Given the description of an element on the screen output the (x, y) to click on. 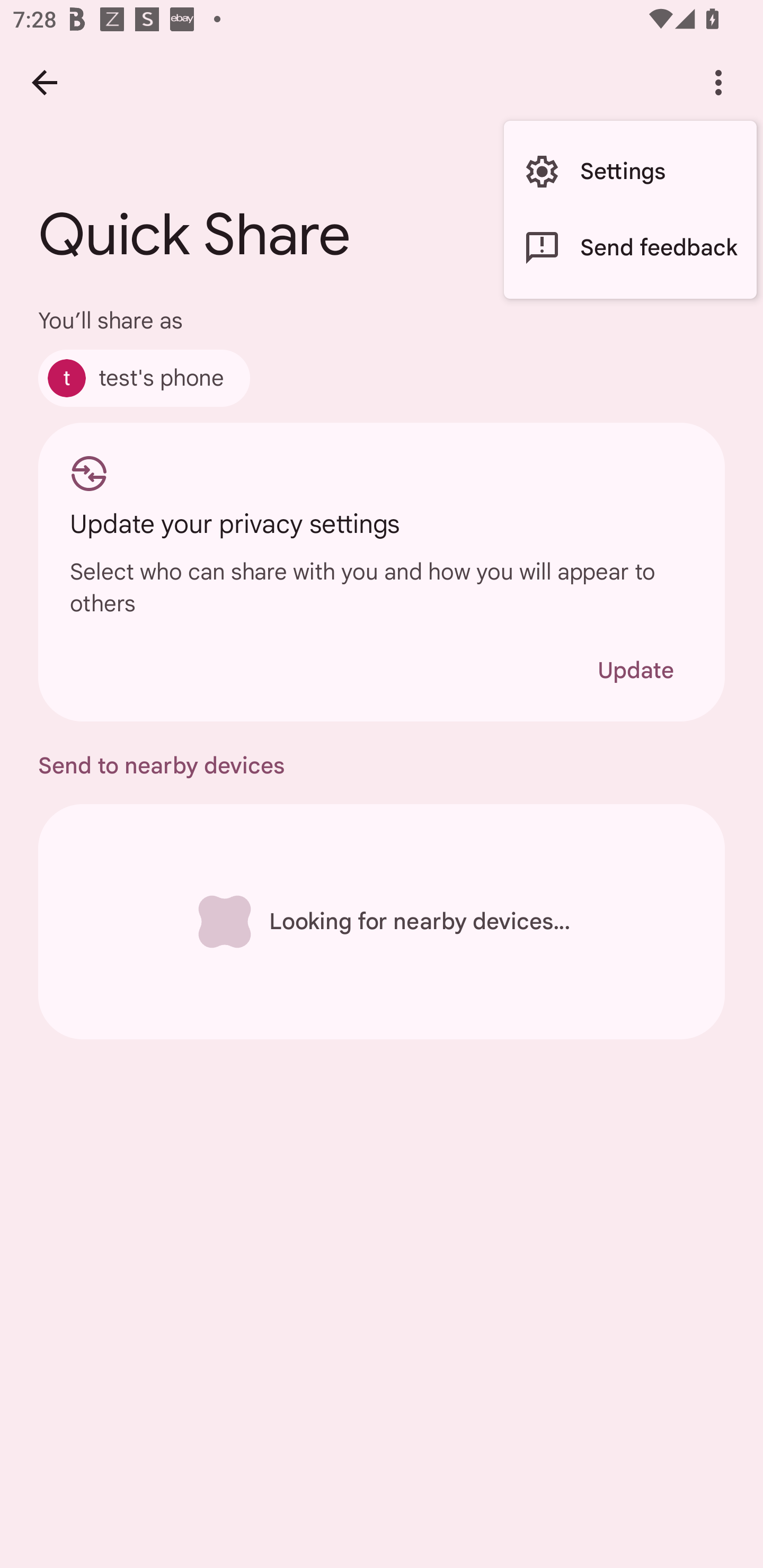
Settings (629, 171)
Send feedback (629, 247)
